Given the description of an element on the screen output the (x, y) to click on. 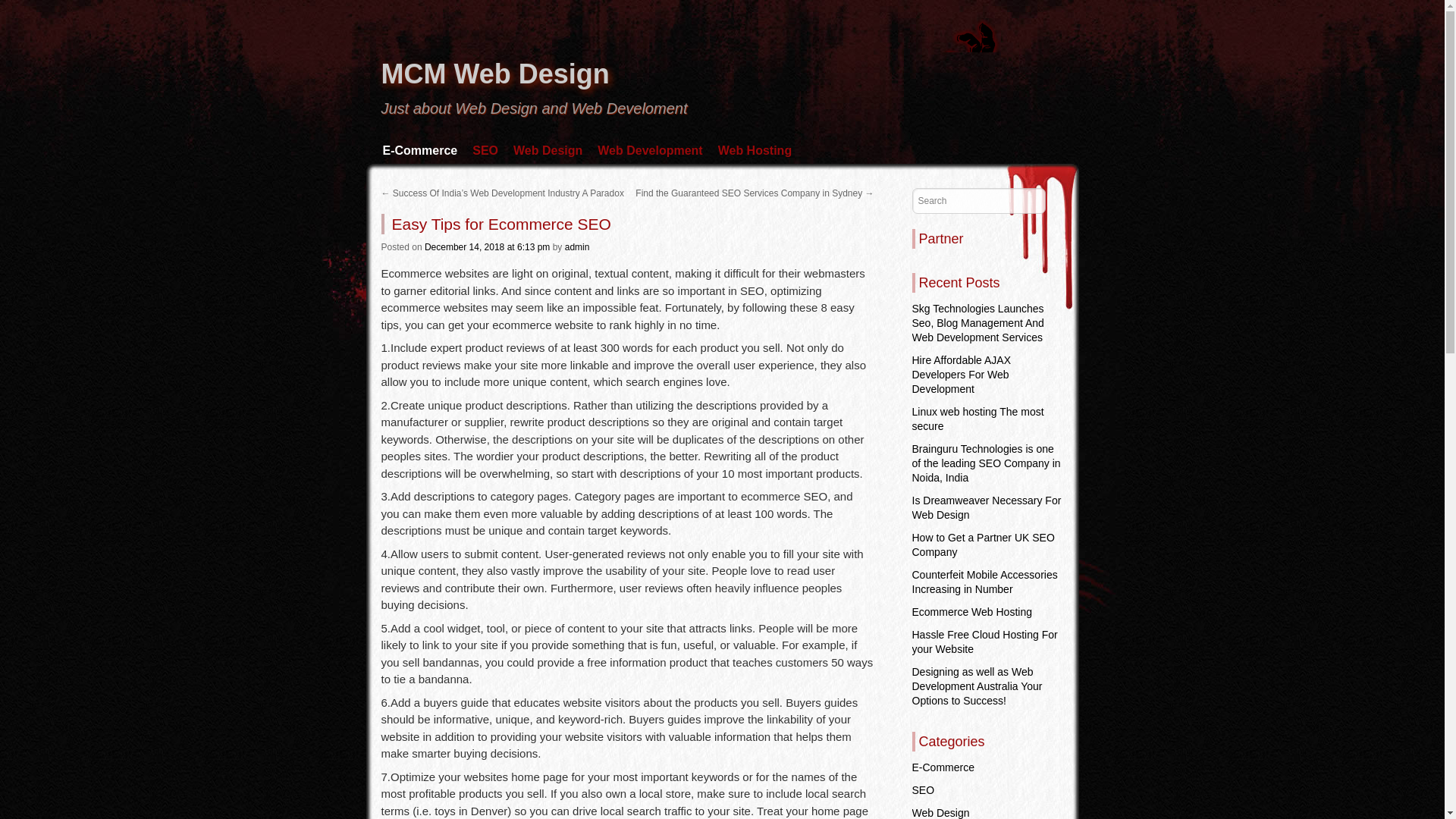
MCM Web Design (494, 73)
Web Design (547, 150)
E-Commerce (942, 767)
View all posts by admin (576, 246)
SEO (484, 150)
MCM Web Design (494, 73)
Counterfeit Mobile Accessories Increasing in Number (984, 581)
Web Development (649, 150)
Linux web hosting The most secure (977, 418)
Ecommerce Web Hosting (970, 612)
